Given the description of an element on the screen output the (x, y) to click on. 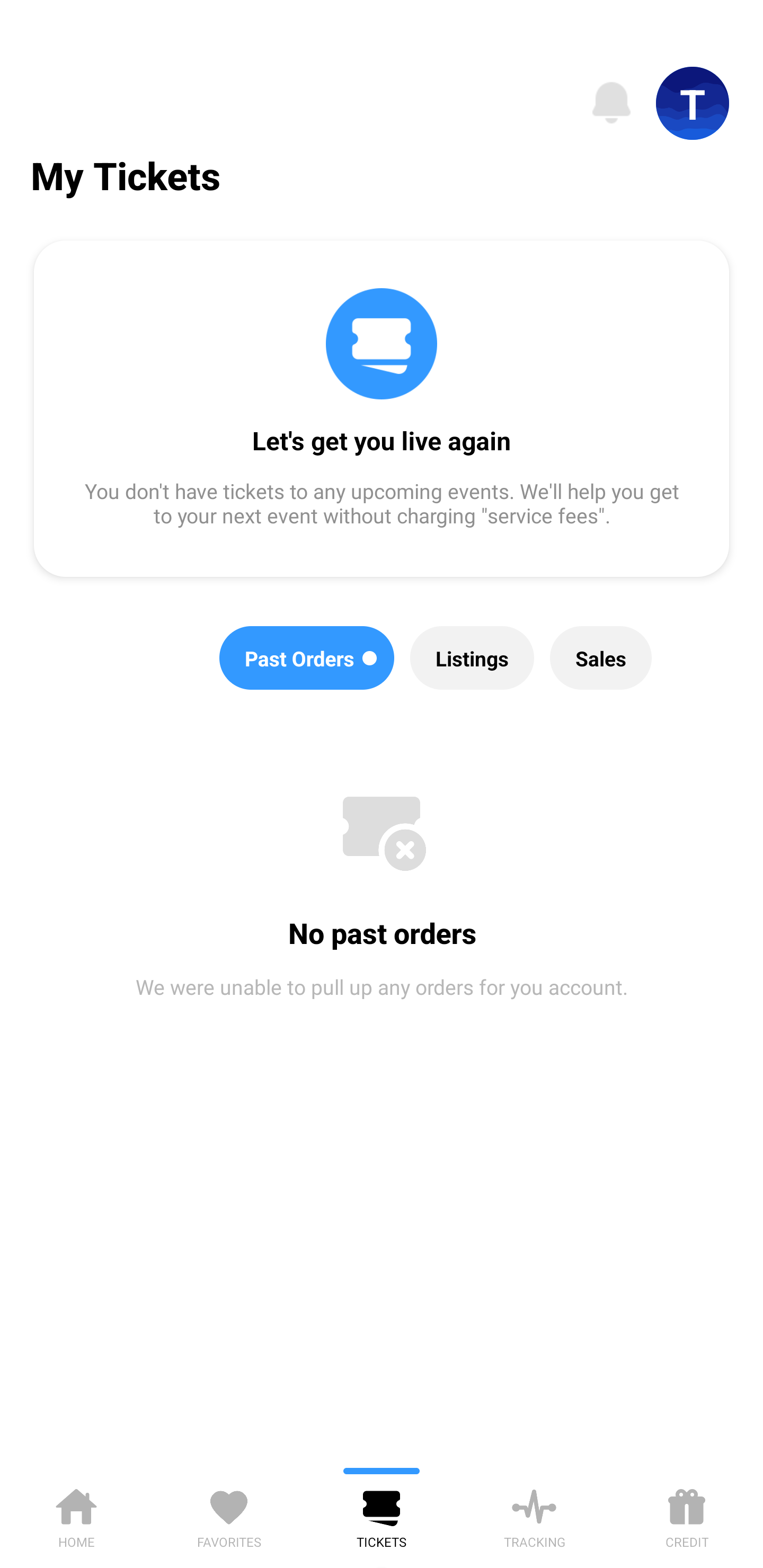
T (692, 103)
Past Orders (306, 657)
Listings (472, 657)
Sales (600, 657)
HOME (76, 1515)
FAVORITES (228, 1515)
TICKETS (381, 1515)
TRACKING (533, 1515)
CREDIT (686, 1515)
